Given the description of an element on the screen output the (x, y) to click on. 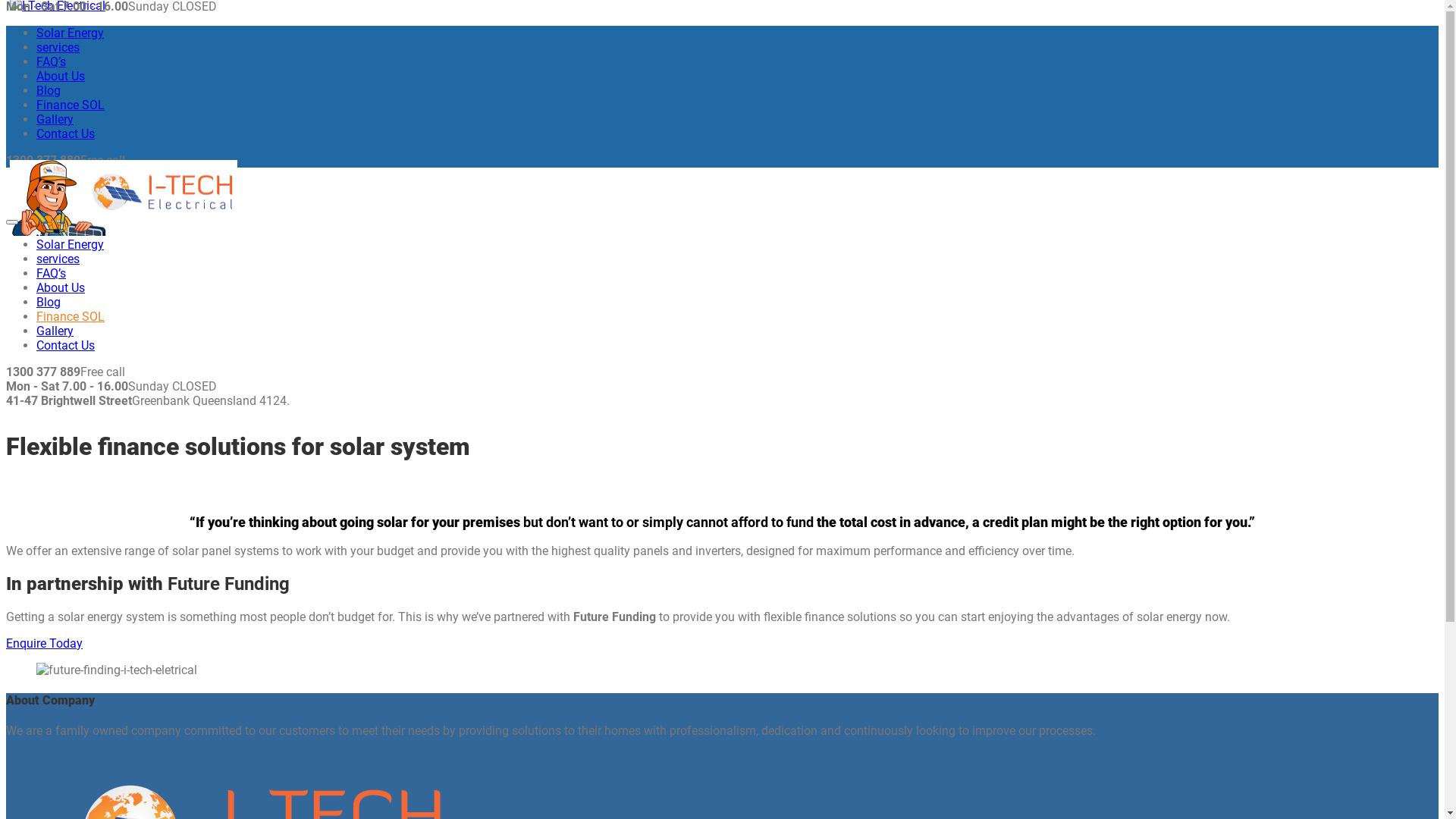
Gallery Element type: text (54, 330)
Blog Element type: text (48, 301)
future-finding-i-tech-eletrical Element type: hover (116, 669)
About Us Element type: text (60, 76)
Contact Us Element type: text (65, 345)
services Element type: text (57, 47)
Solar Energy Element type: text (69, 32)
Blog Element type: text (48, 90)
Finance SOL Element type: text (70, 316)
Gallery Element type: text (54, 119)
About Us Element type: text (60, 287)
Solar Energy Element type: text (69, 244)
Contact Us Element type: text (65, 133)
Enquire Today Element type: text (44, 643)
services Element type: text (57, 258)
Finance SOL Element type: text (70, 104)
